Given the description of an element on the screen output the (x, y) to click on. 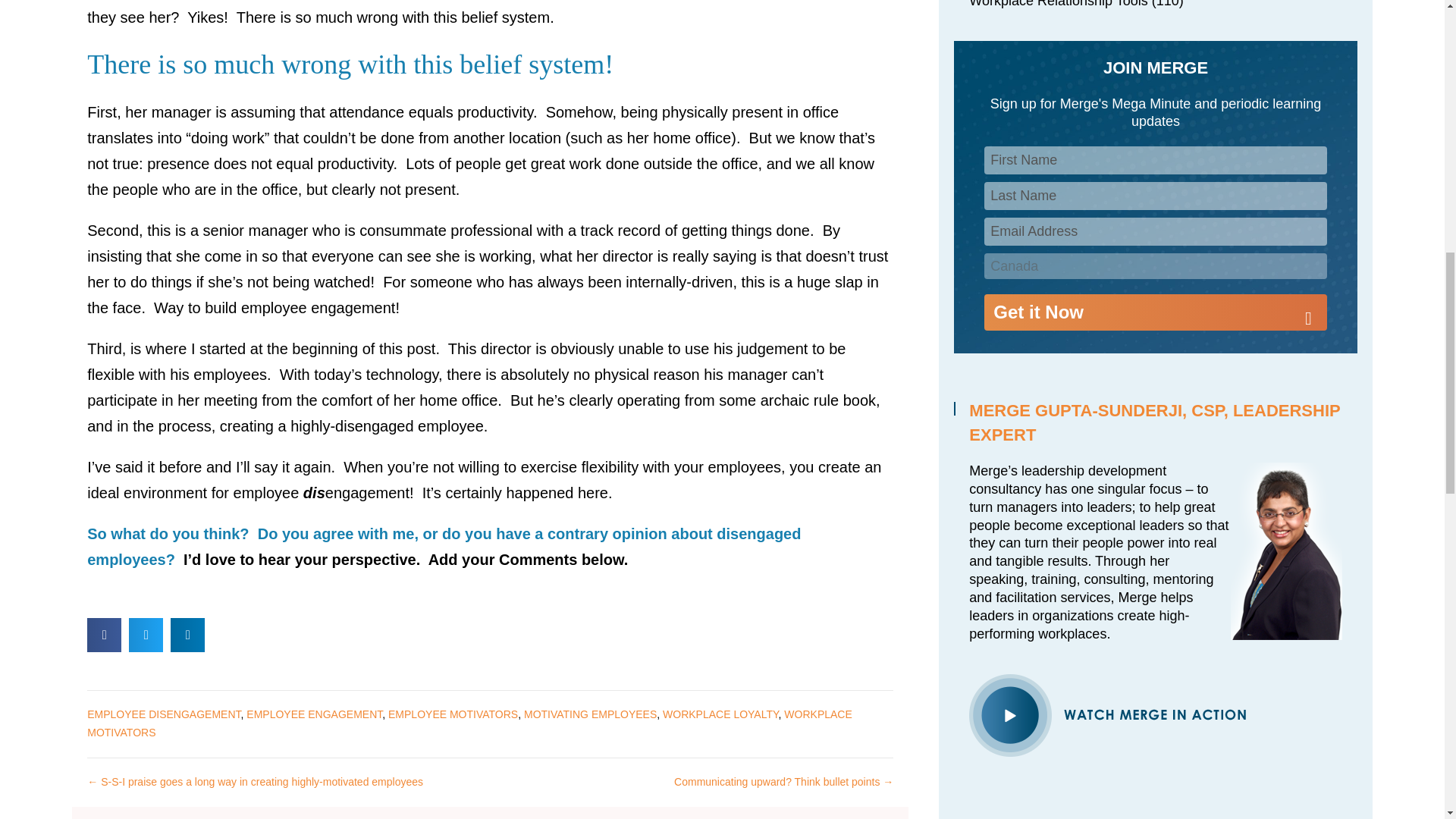
First Name (1155, 160)
Get it Now (1155, 312)
Email Address (1155, 231)
Last Name (1155, 195)
